Given the description of an element on the screen output the (x, y) to click on. 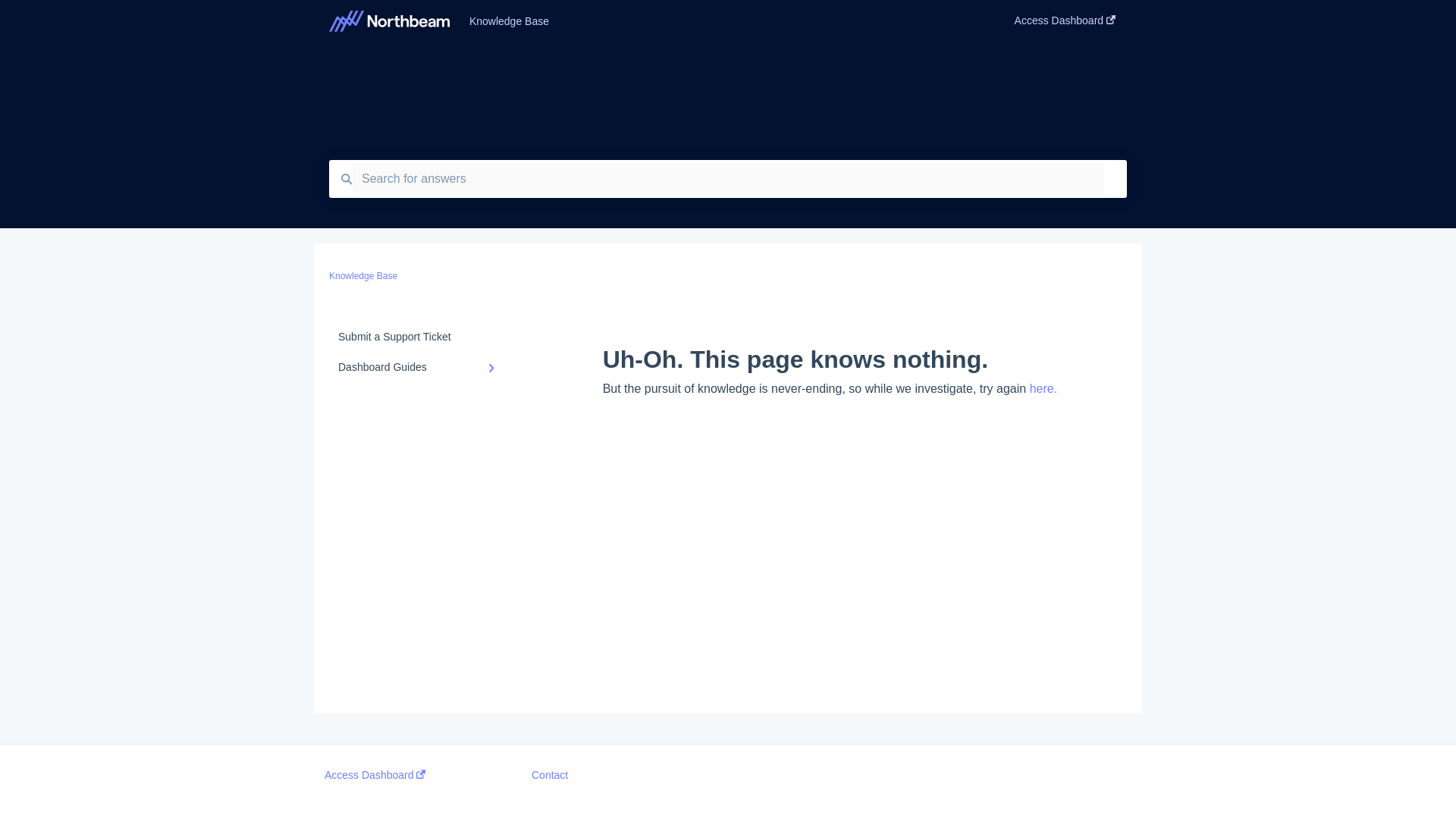
Access Dashboard (374, 775)
Knowledge Base (363, 276)
Dashboard Guides (420, 367)
Submit a Support Ticket (420, 336)
Contact (549, 775)
here. (1043, 388)
Knowledge Base (718, 21)
Access Dashboard (1064, 25)
